Given the description of an element on the screen output the (x, y) to click on. 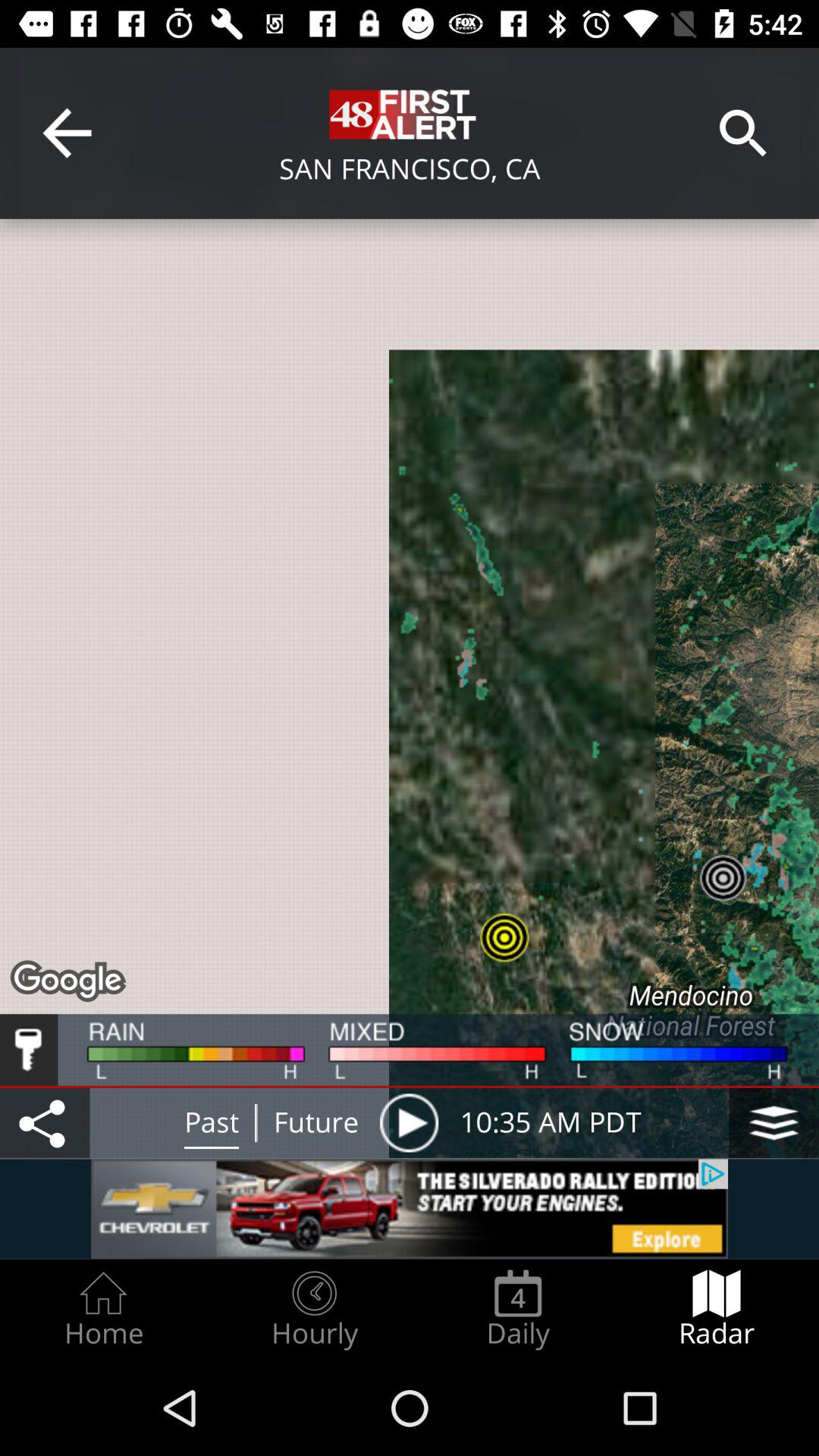
choose the item to the right of home item (314, 1309)
